Given the description of an element on the screen output the (x, y) to click on. 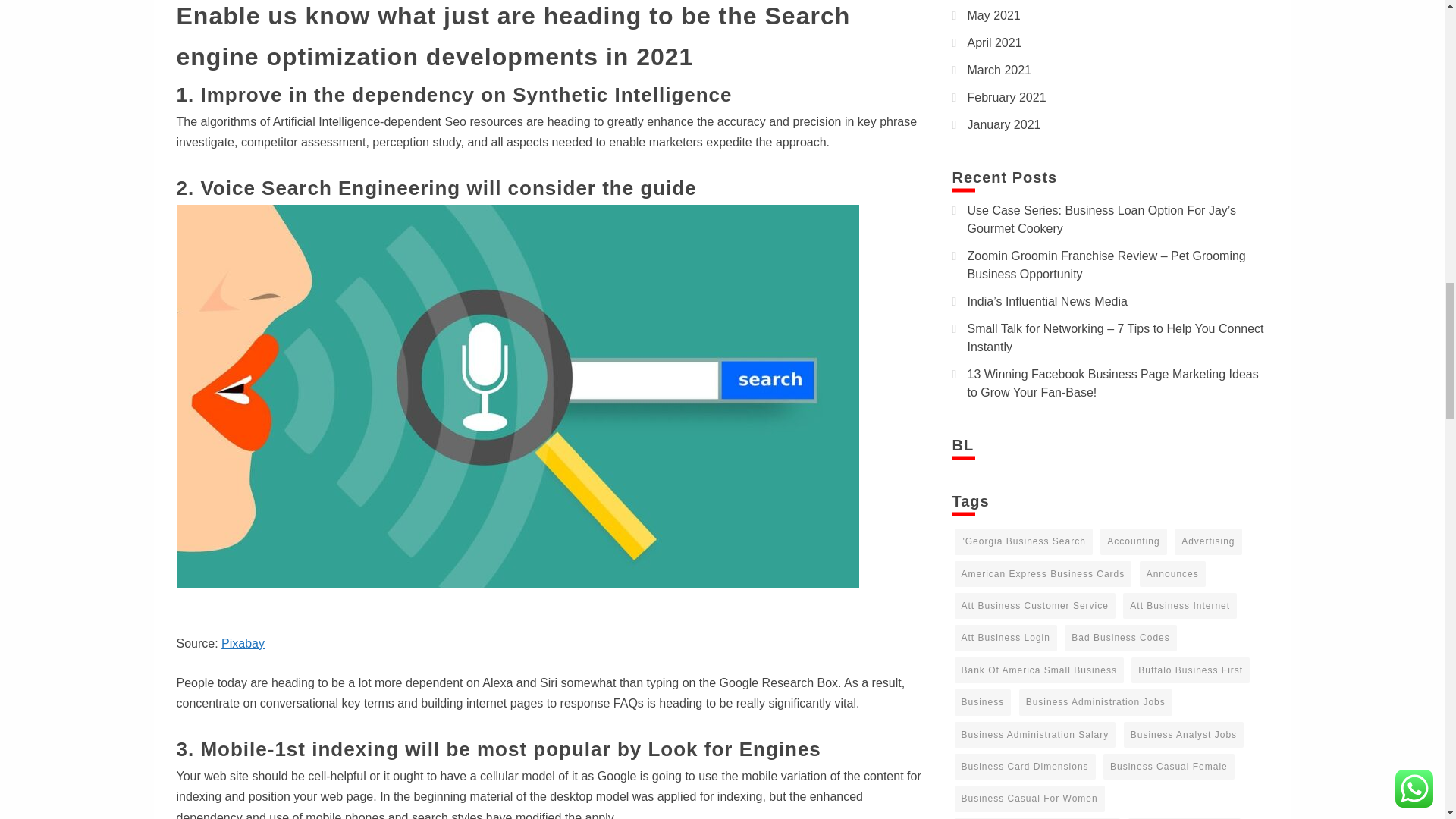
Pixabay (242, 643)
